Given the description of an element on the screen output the (x, y) to click on. 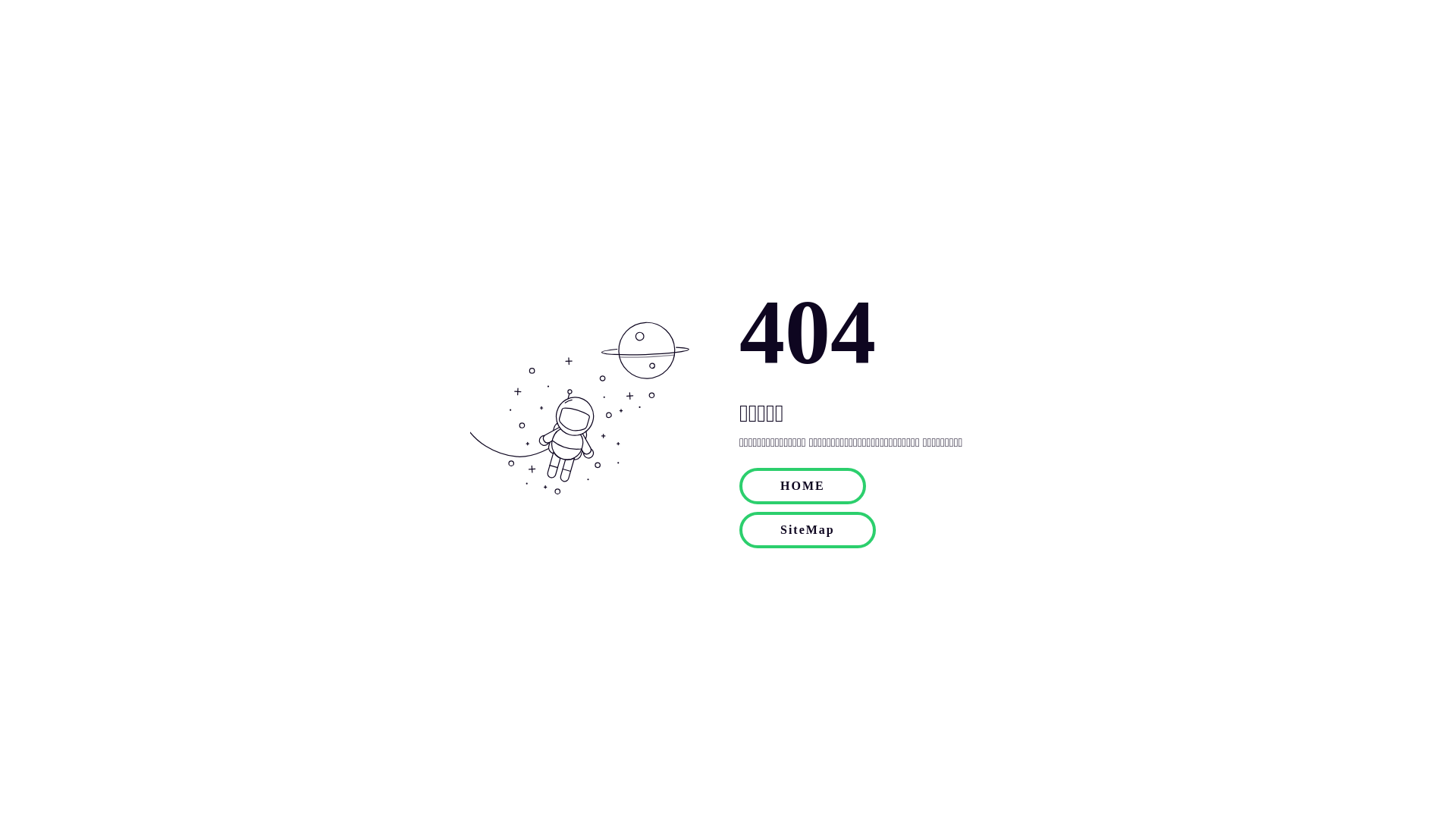
SiteMap Element type: text (807, 529)
HOME Element type: text (802, 485)
HOME Element type: text (802, 484)
SiteMap Element type: text (807, 528)
